Given the description of an element on the screen output the (x, y) to click on. 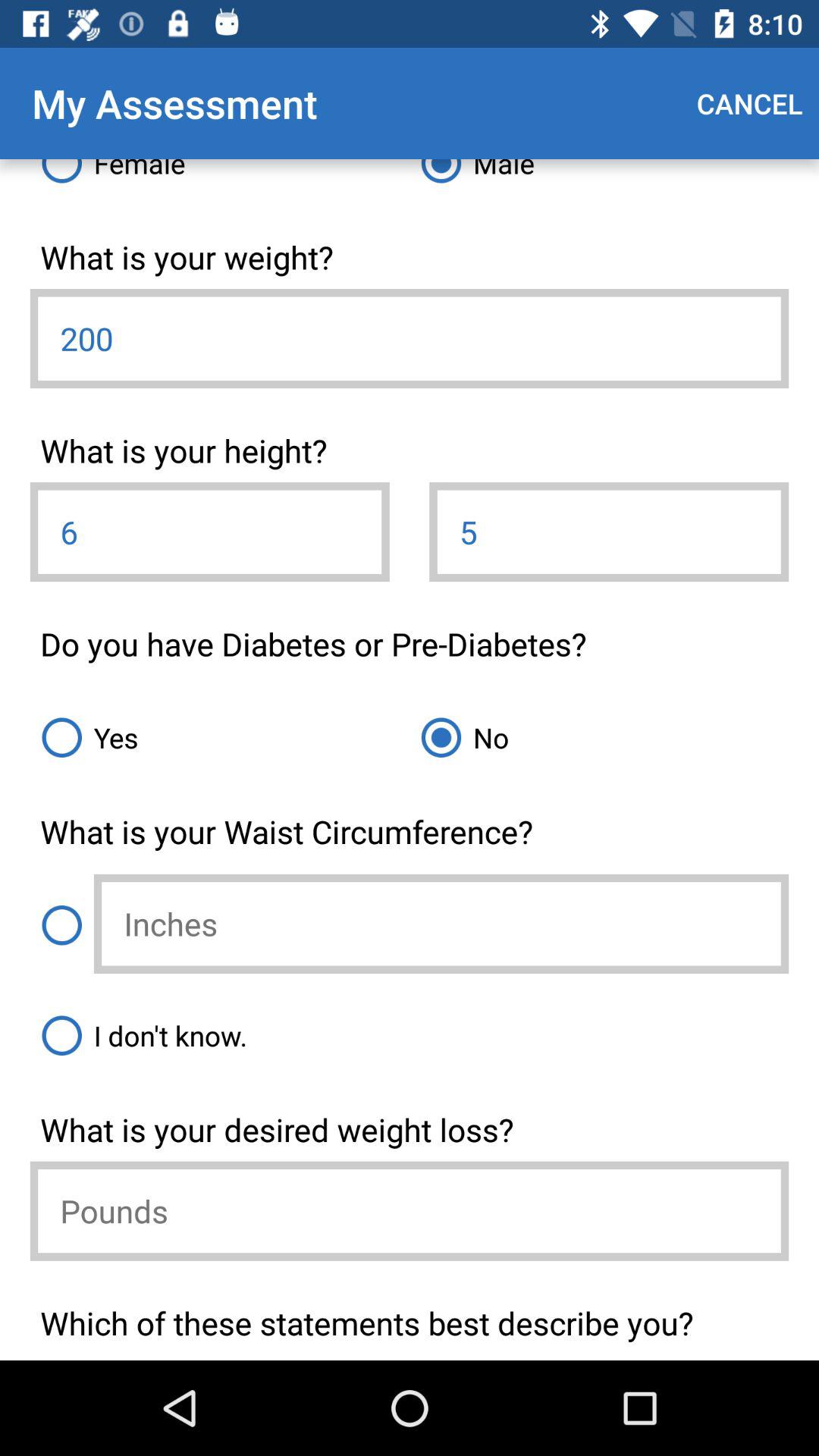
insert pounds field (409, 1210)
